Given the description of an element on the screen output the (x, y) to click on. 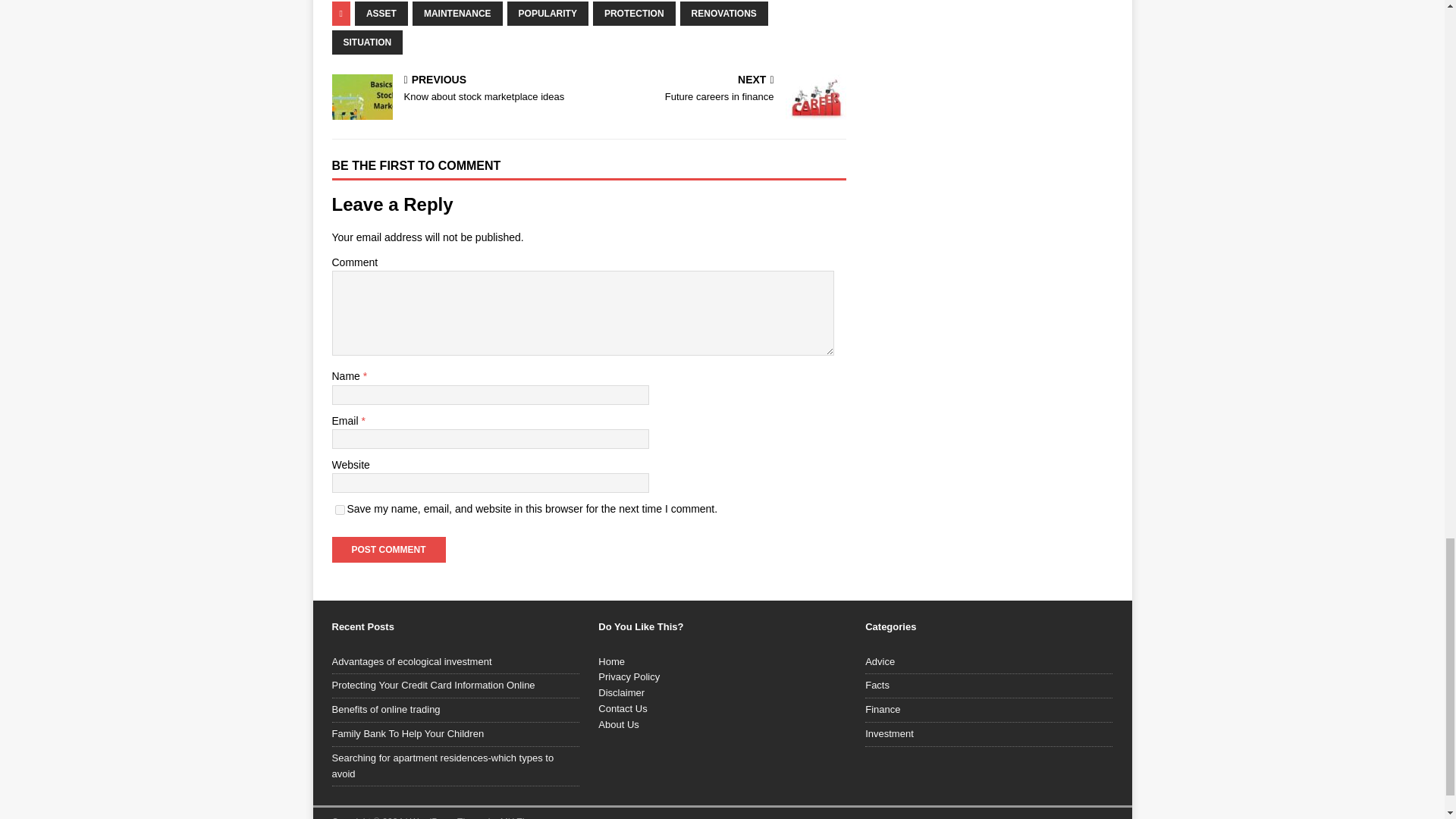
PROTECTION (633, 13)
Post Comment (388, 549)
MAINTENANCE (457, 13)
ASSET (381, 13)
yes (457, 89)
POPULARITY (339, 510)
SITUATION (547, 13)
Post Comment (720, 89)
RENOVATIONS (367, 42)
